Given the description of an element on the screen output the (x, y) to click on. 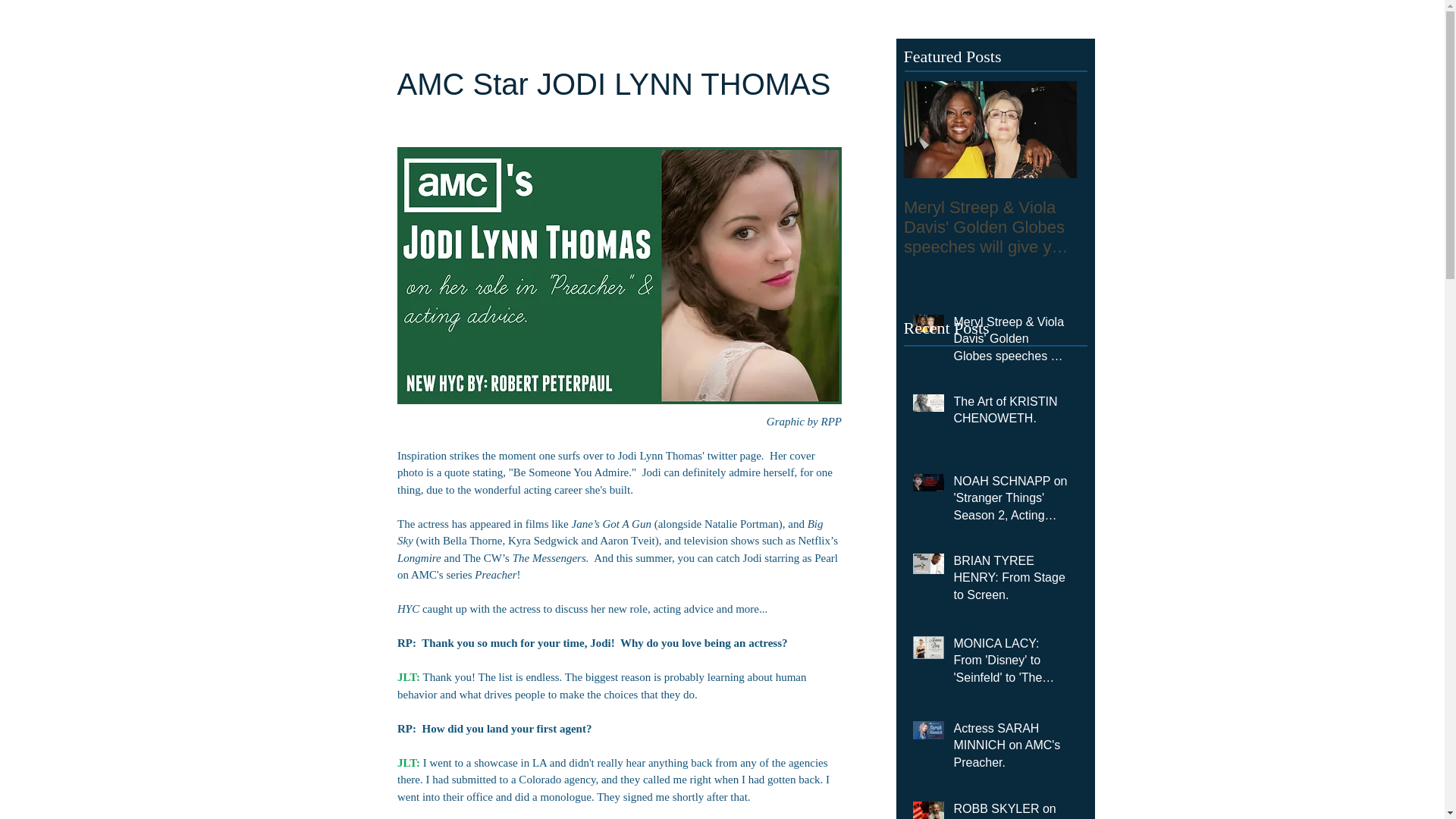
BRIAN TYREE HENRY: From Stage to Screen. (1010, 580)
The Art of KRISTIN CHENOWETH. (1010, 413)
Actress SARAH MINNICH on AMC's Preacher. (1010, 748)
MONICA LACY: From 'Disney' to 'Seinfeld' to 'The Kicks.' (1010, 663)
